Given the description of an element on the screen output the (x, y) to click on. 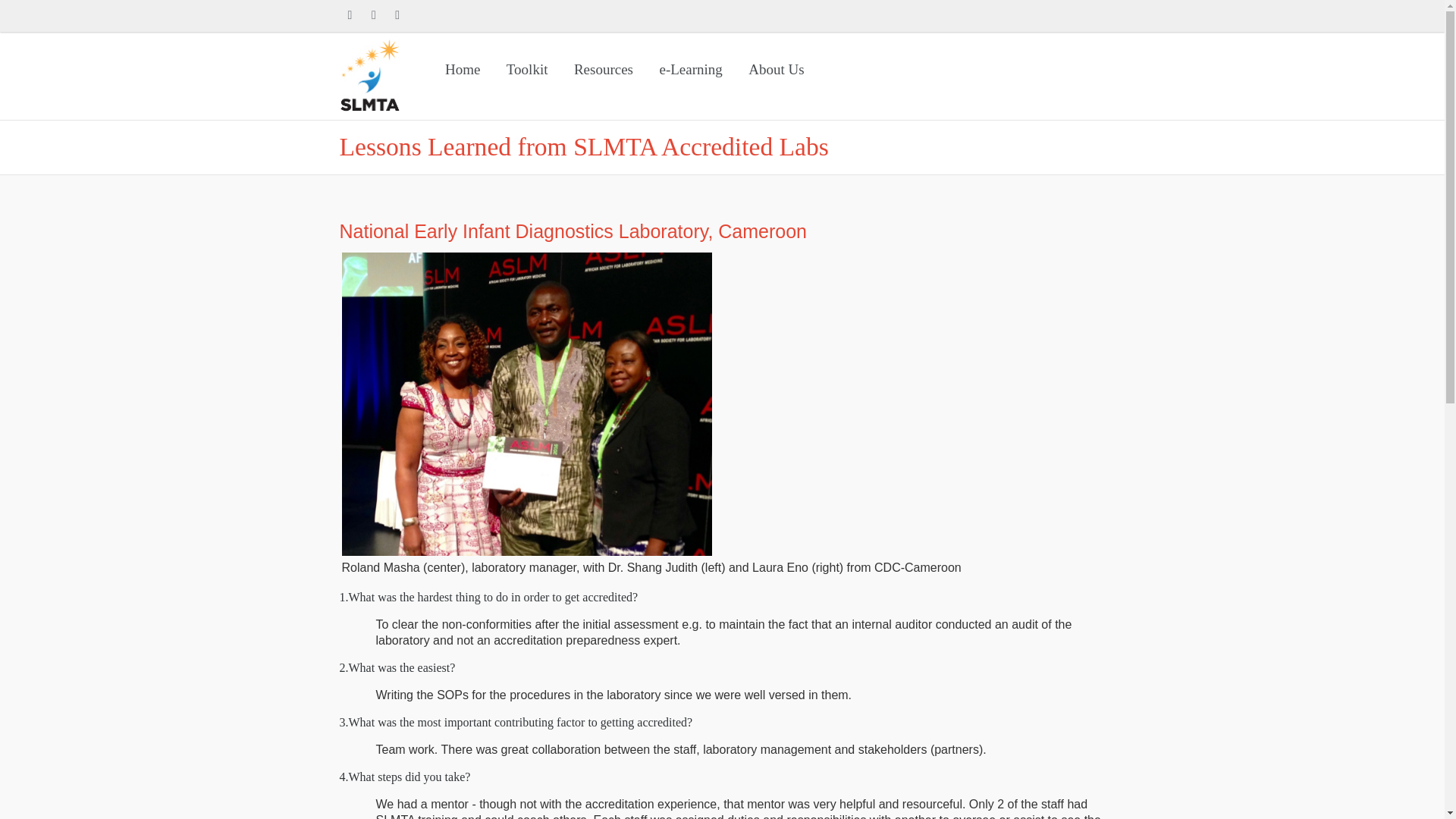
Toolkit (527, 69)
Resources (603, 69)
Home (462, 69)
About Us (775, 69)
e-Learning (690, 69)
